Given the description of an element on the screen output the (x, y) to click on. 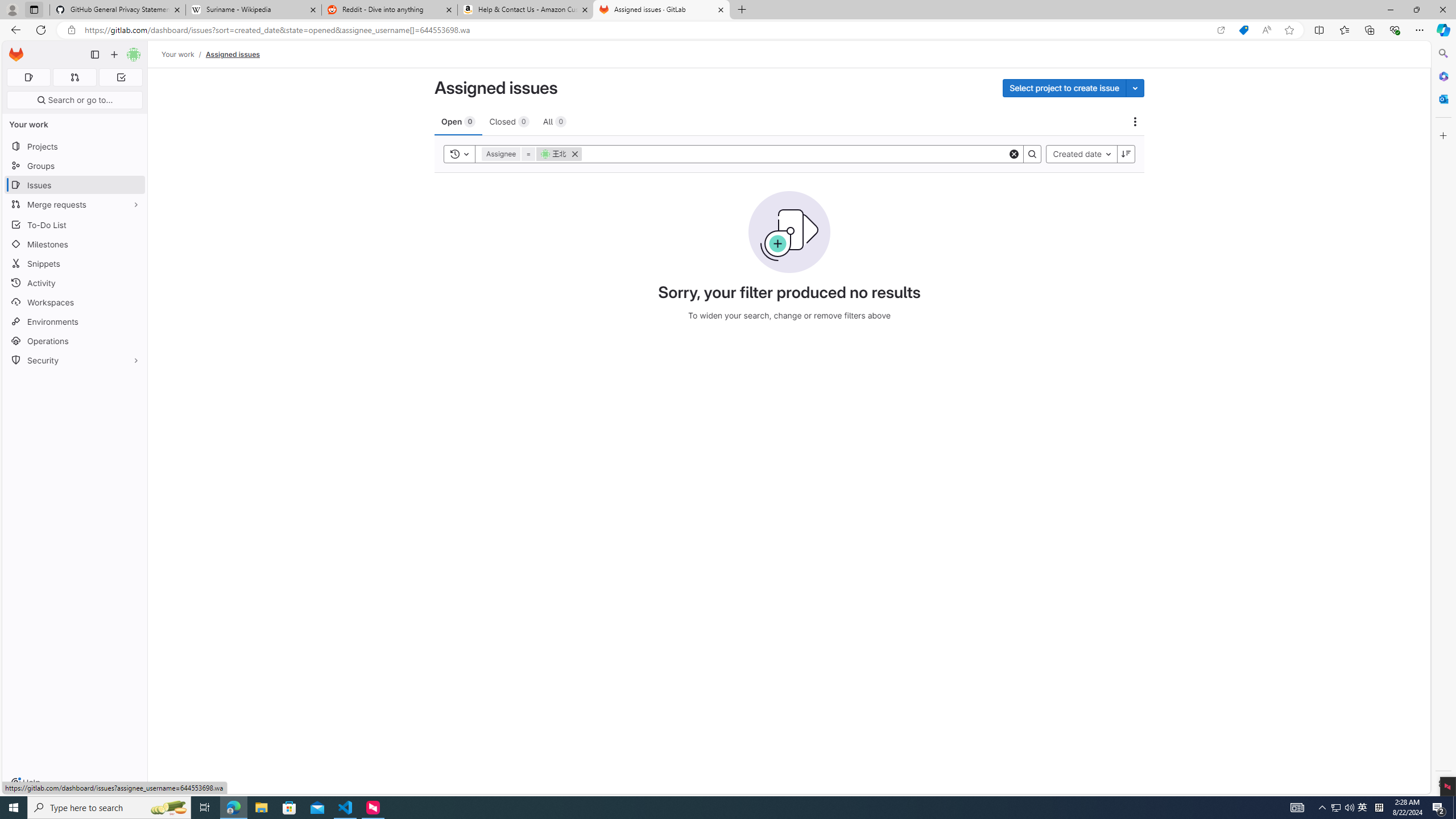
Operations (74, 340)
Groups (74, 165)
Issues (74, 185)
Create new... (113, 54)
Clear (1014, 153)
Merge requests 0 (74, 76)
Assigned issues 0 (28, 76)
Security (74, 359)
